Given the description of an element on the screen output the (x, y) to click on. 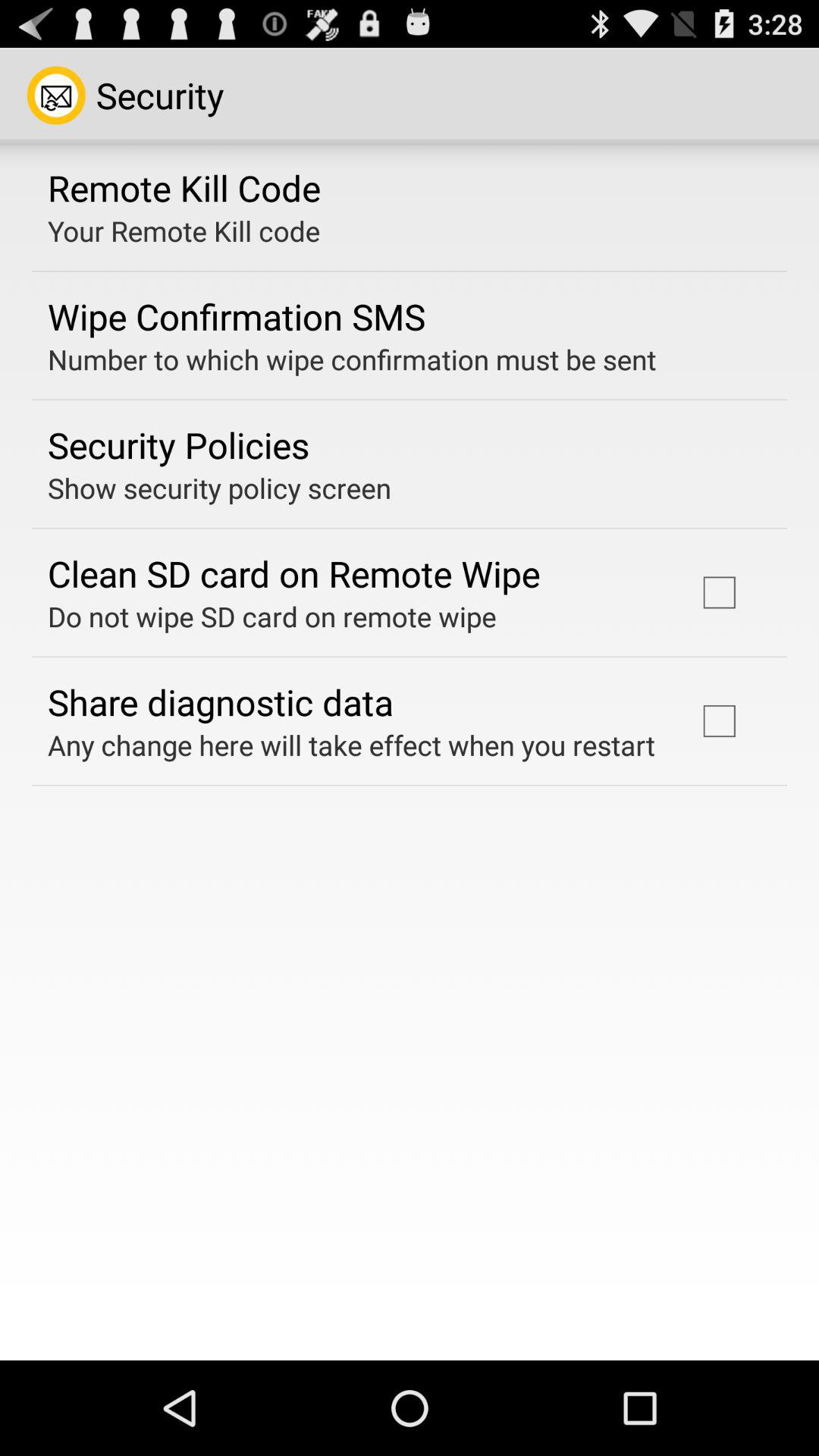
open the share diagnostic data app (220, 701)
